Given the description of an element on the screen output the (x, y) to click on. 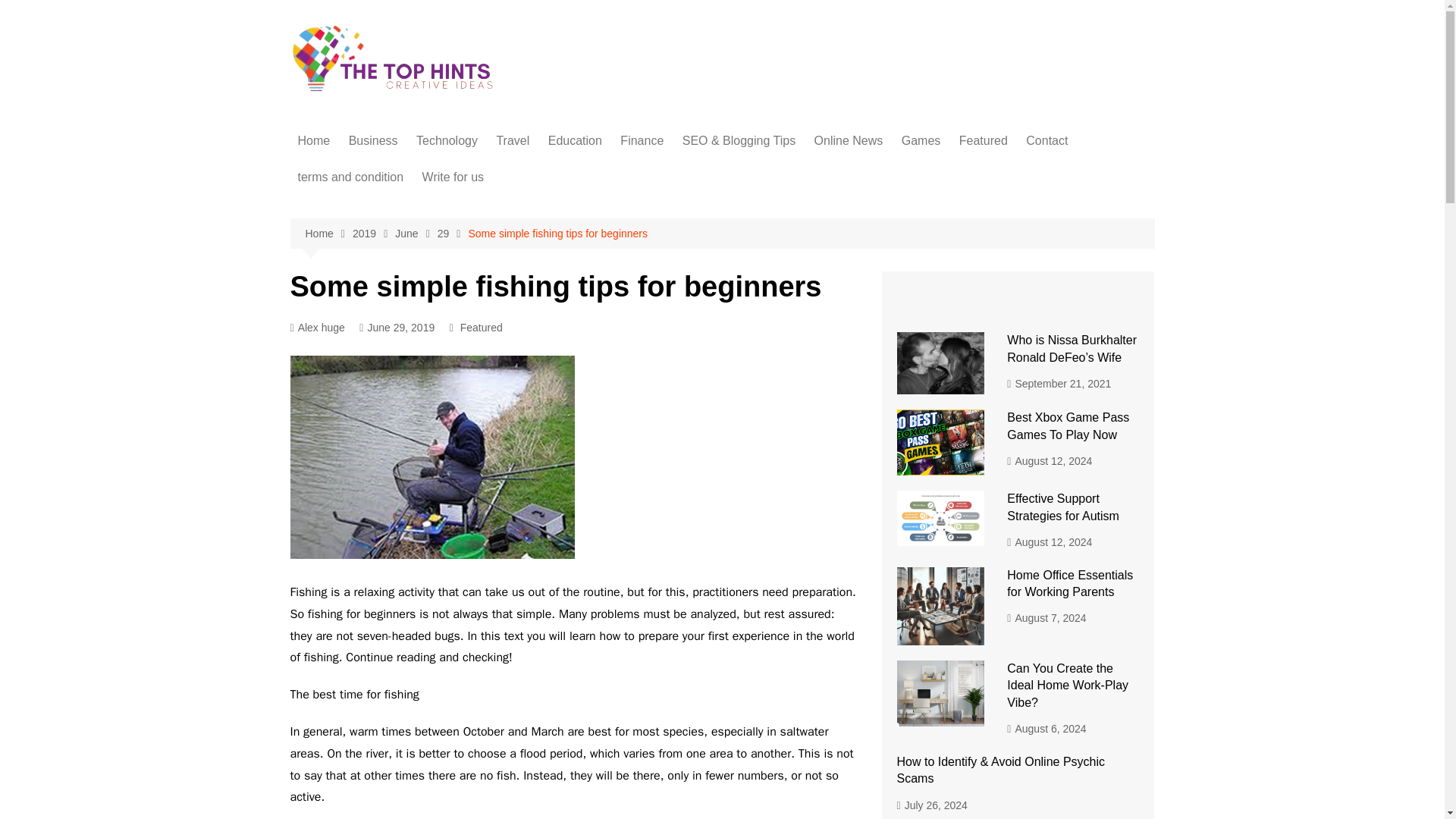
Featured (481, 327)
Alex huge (316, 327)
Home (328, 233)
2019 (373, 233)
Featured (983, 140)
Business (373, 140)
Home (313, 140)
Some simple fishing tips for beginners (557, 233)
Games (921, 140)
Travel (512, 140)
